Given the description of an element on the screen output the (x, y) to click on. 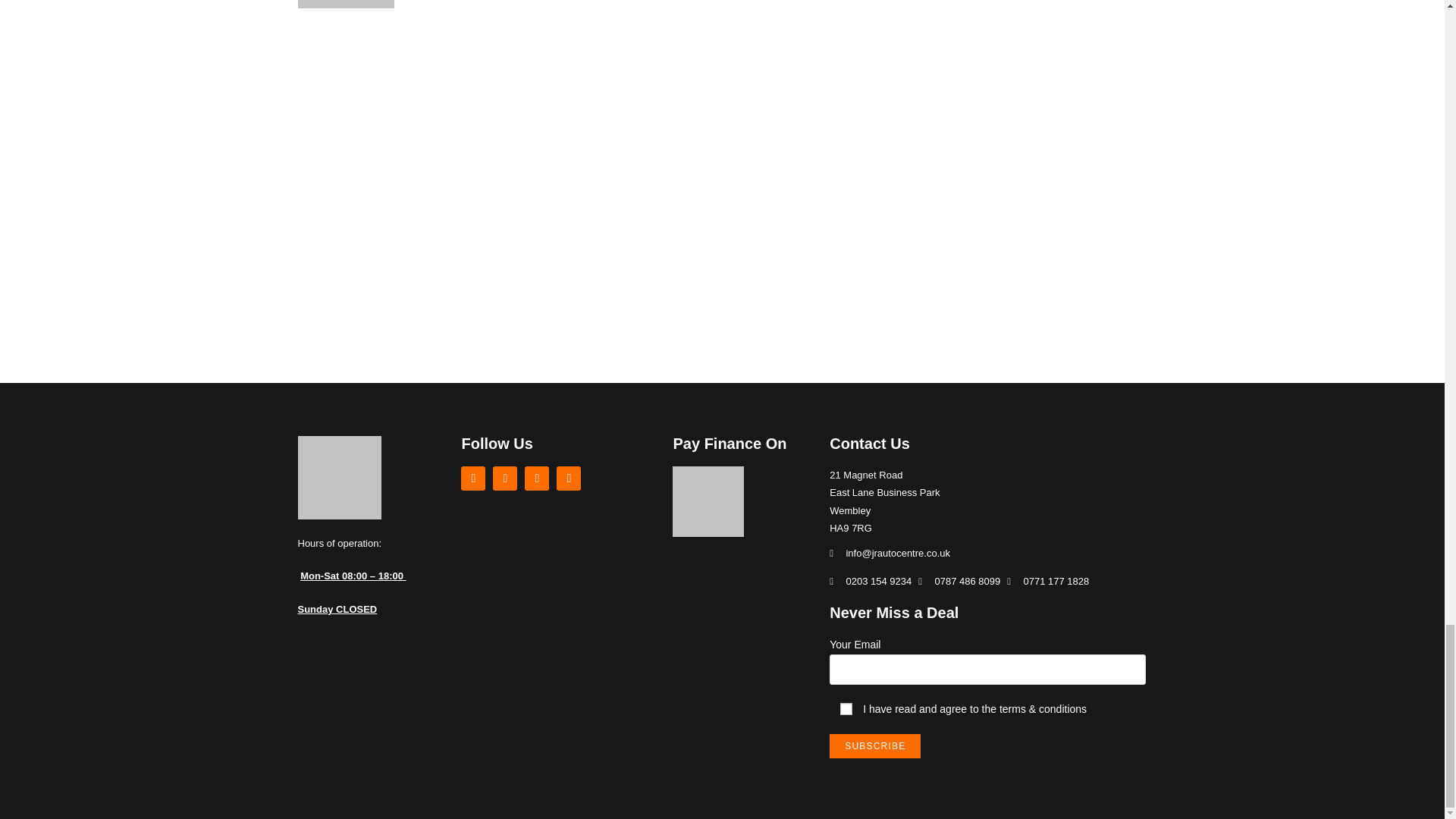
Subscribe (874, 745)
1 (845, 708)
